Given the description of an element on the screen output the (x, y) to click on. 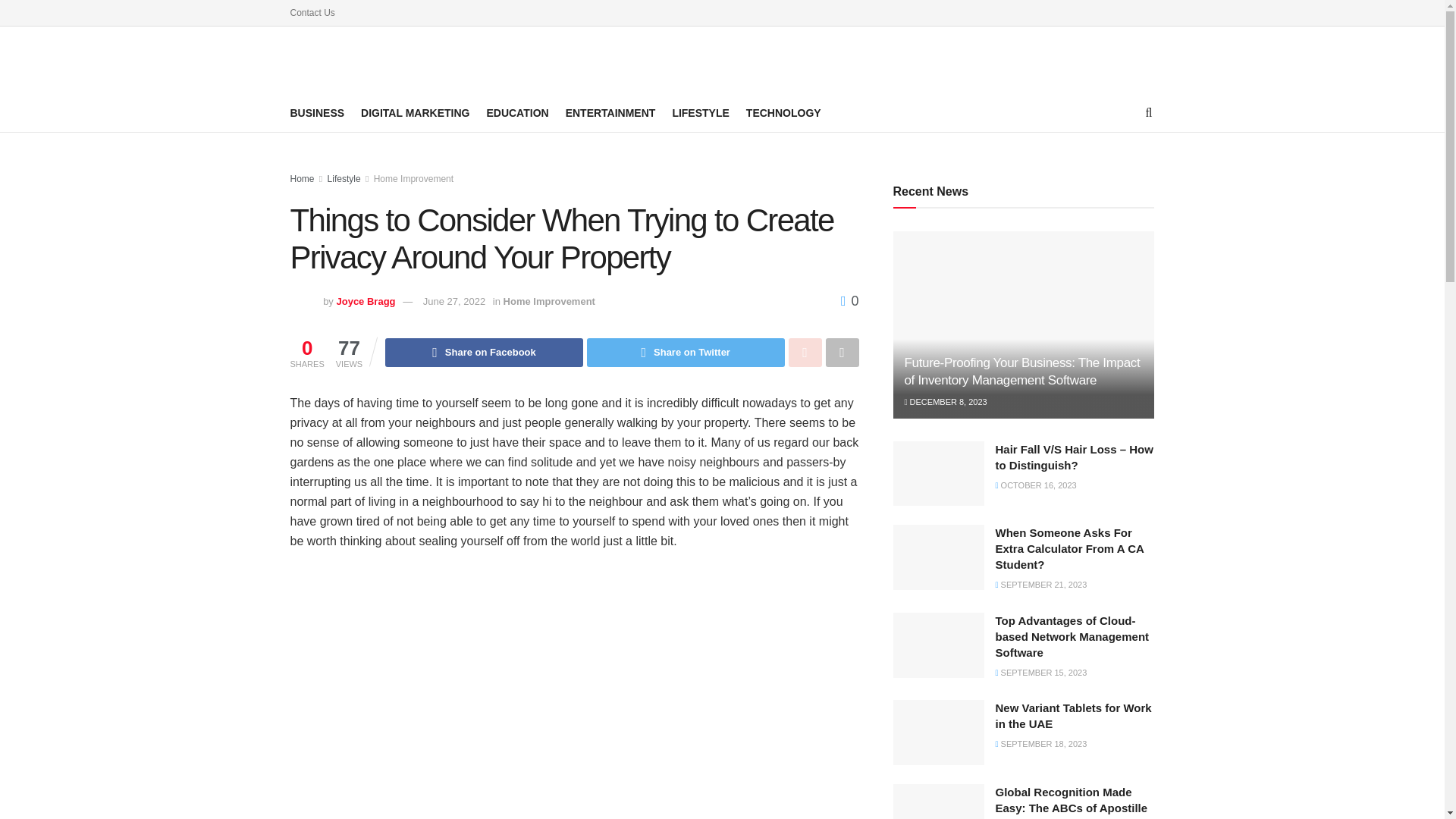
DIGITAL MARKETING (414, 112)
Contact Us (311, 12)
ENTERTAINMENT (611, 112)
BUSINESS (316, 112)
TECHNOLOGY (783, 112)
EDUCATION (517, 112)
LIFESTYLE (700, 112)
